Given the description of an element on the screen output the (x, y) to click on. 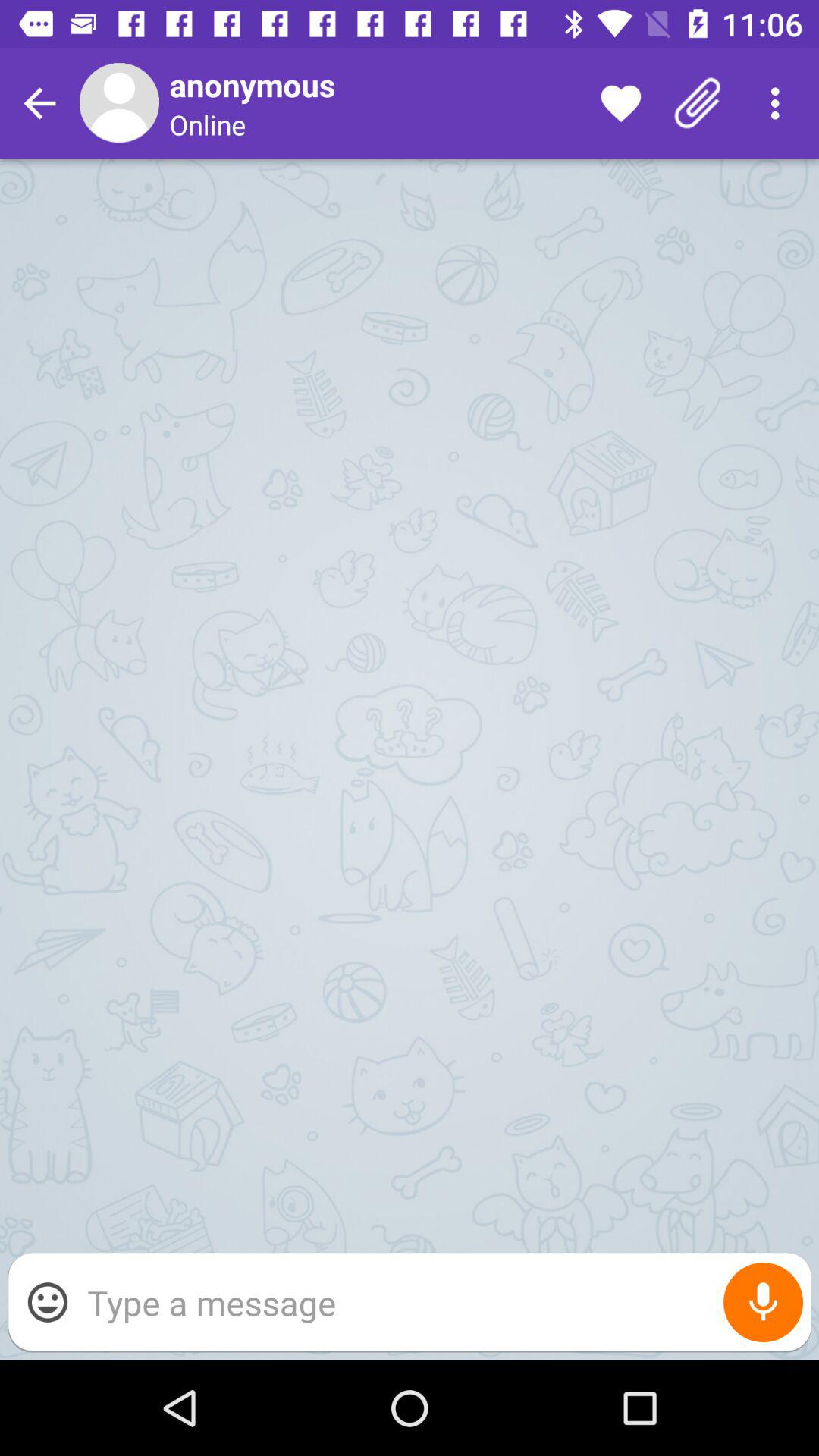
select an emoji (47, 1302)
